Given the description of an element on the screen output the (x, y) to click on. 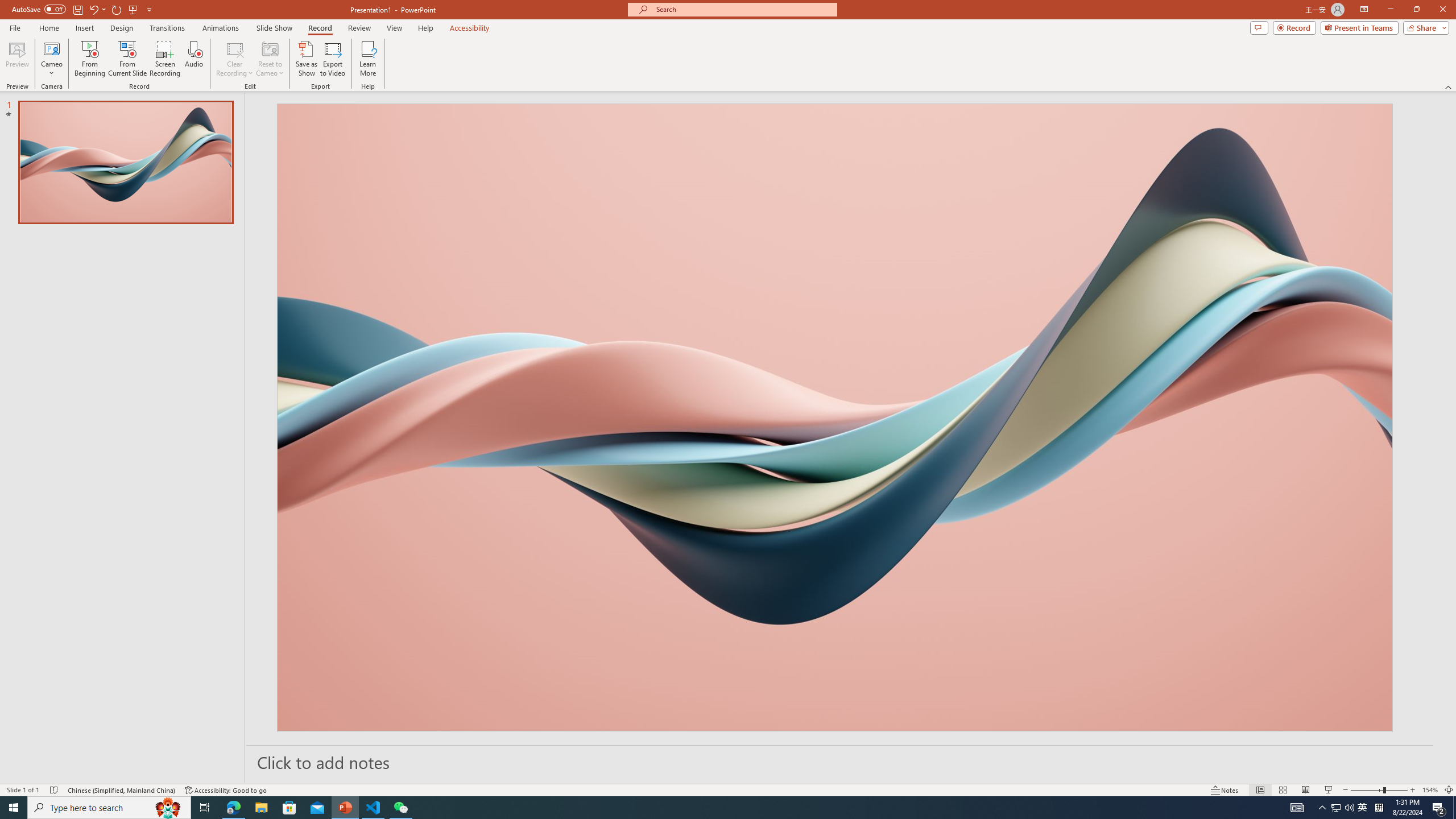
Wavy 3D art (834, 417)
